Given the description of an element on the screen output the (x, y) to click on. 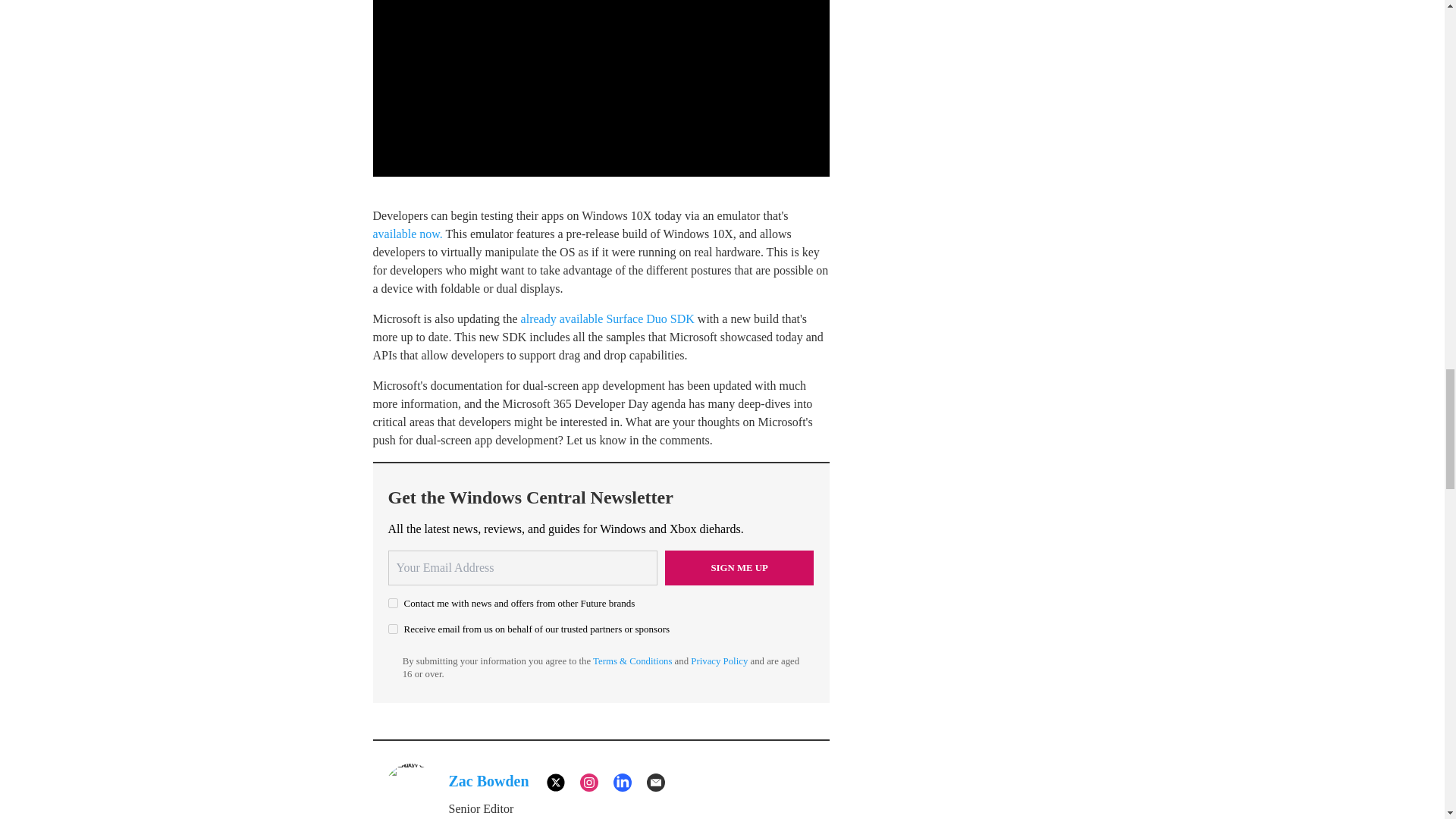
already available Surface Duo SDK (607, 318)
Sign me up (739, 567)
Privacy Policy (719, 661)
on (392, 628)
available now. (407, 233)
on (392, 603)
Zac Bowden (488, 781)
Sign me up (739, 567)
